Given the description of an element on the screen output the (x, y) to click on. 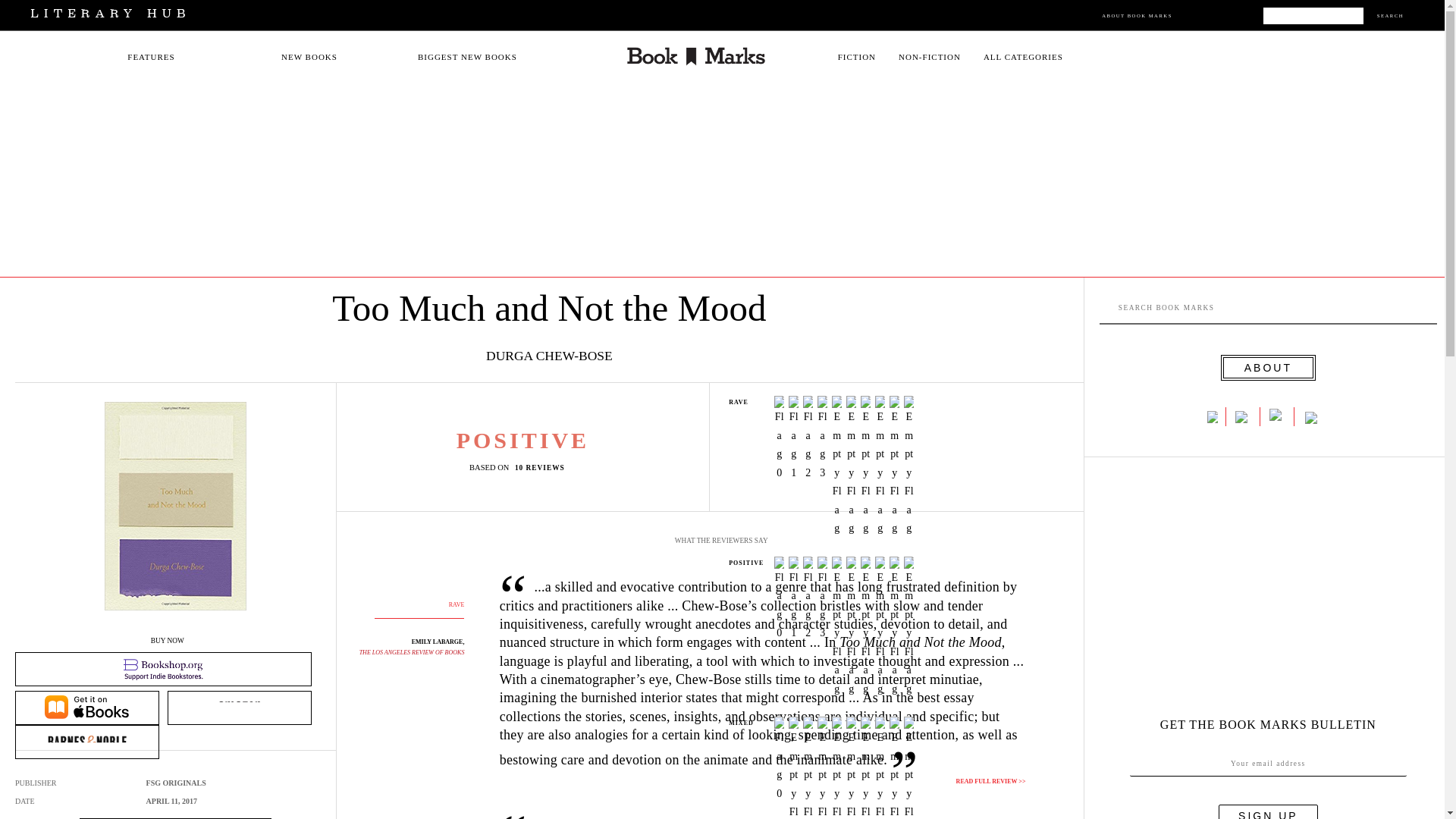
ABOUT BOOK MARKS (1137, 15)
NEW BOOKS (309, 56)
FEATURES (151, 56)
SEARCH (1390, 15)
Sign up (1267, 811)
ALL CATEGORIES (1023, 56)
EMILY LABARGE, (438, 641)
10 REVIEWS (543, 467)
THE LOS ANGELES REVIEW OF BOOKS (411, 652)
FICTION (857, 56)
NON-FICTION (929, 56)
BIGGEST NEW BOOKS (466, 56)
